Given the description of an element on the screen output the (x, y) to click on. 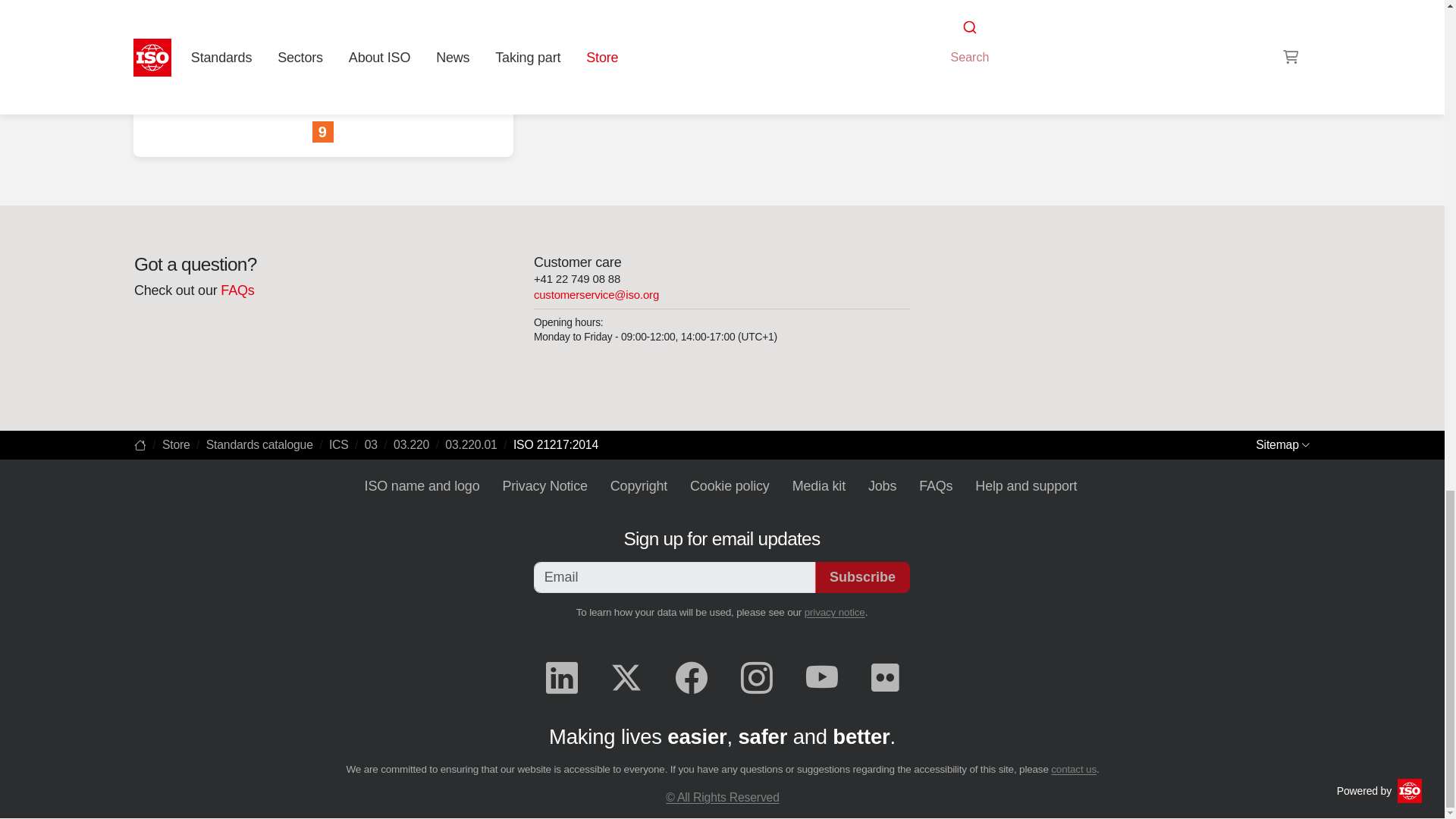
Industry, Innovation and Infrastructure (323, 132)
